Given the description of an element on the screen output the (x, y) to click on. 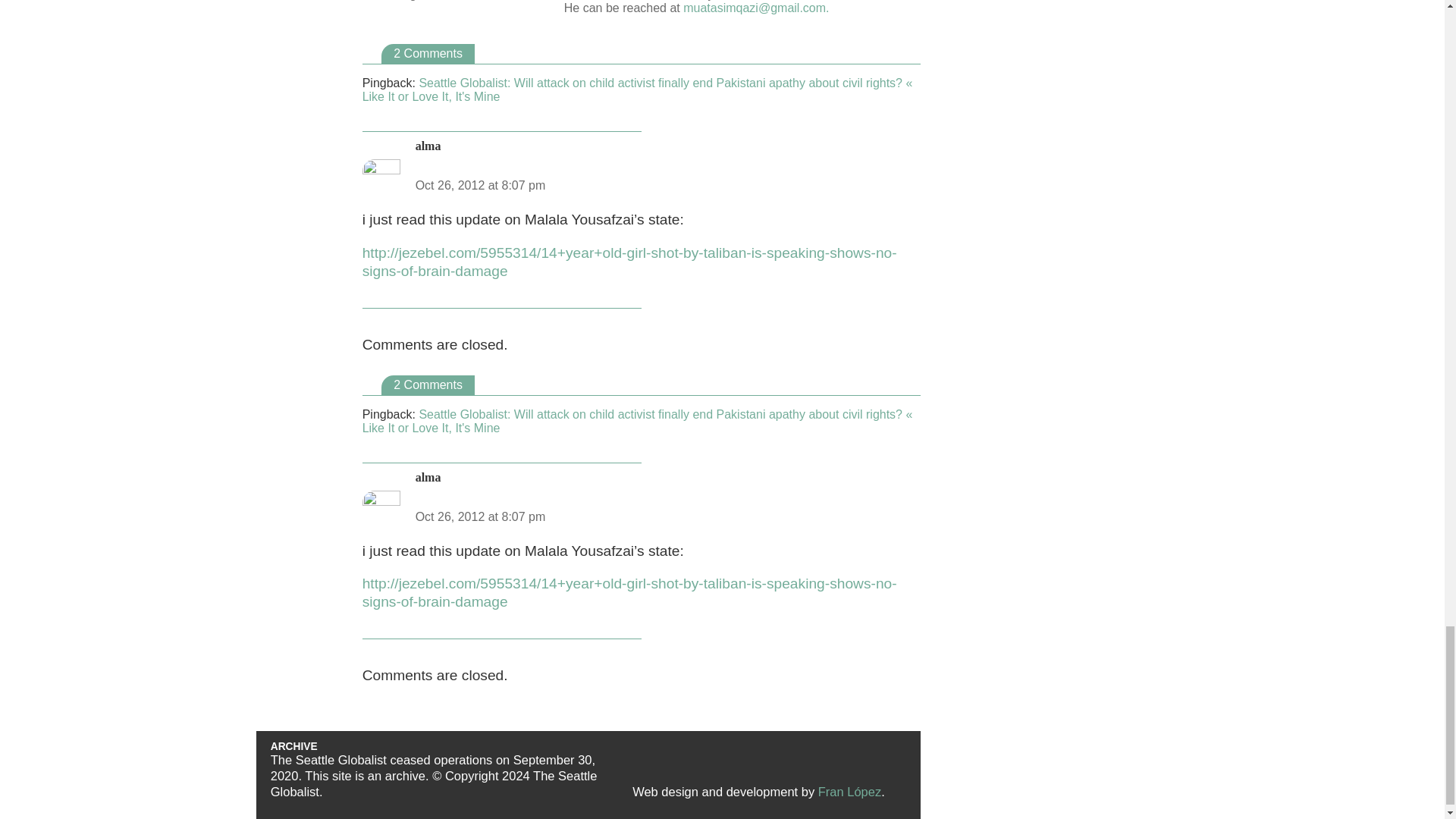
Oct 26, 2012 at 8:07 pm (480, 185)
